Given the description of an element on the screen output the (x, y) to click on. 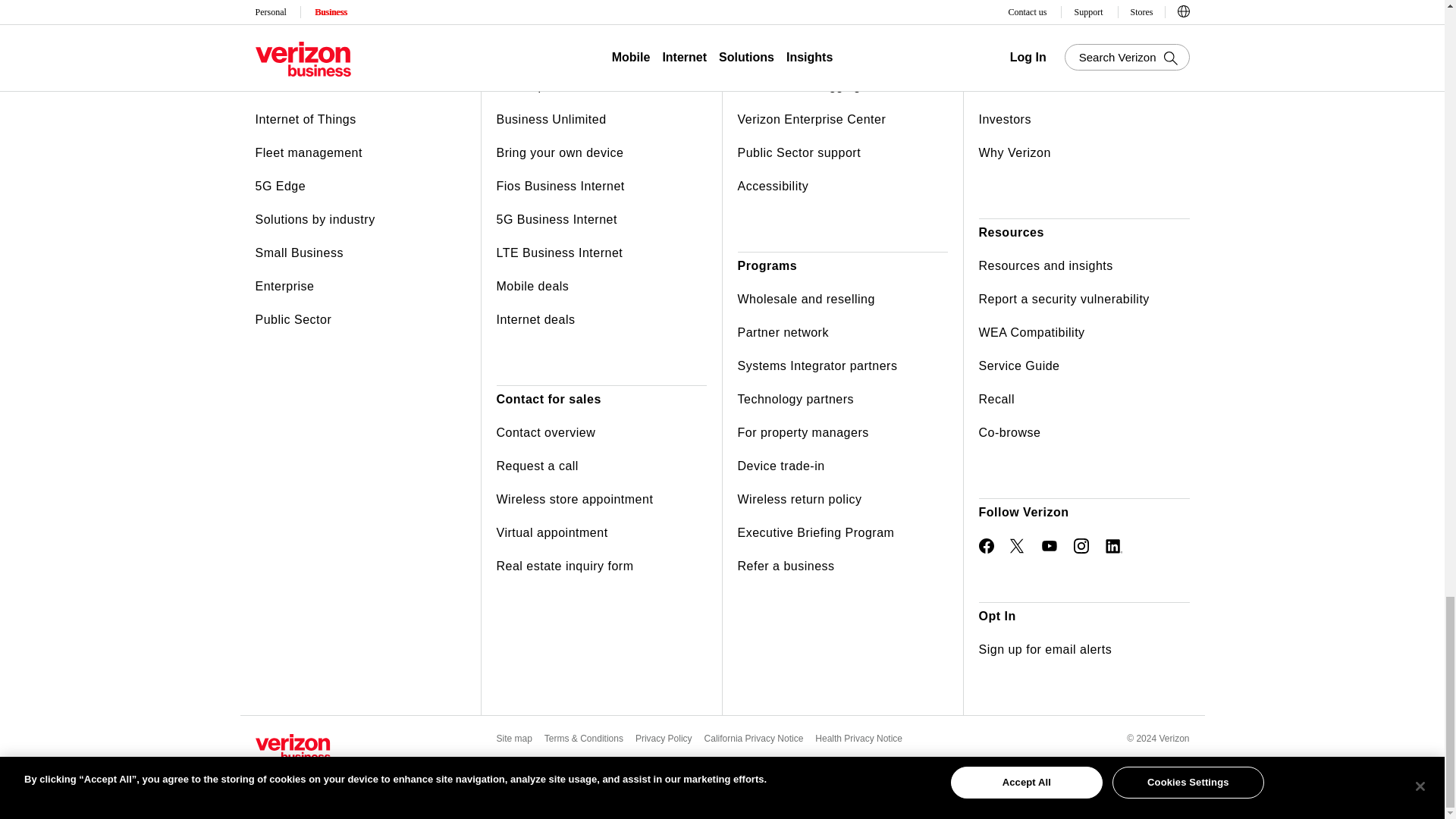
Opens New Window (1081, 545)
Opens New Window (1113, 545)
Opens New Window (985, 545)
Opens New Window (1049, 545)
Verizon Home Page (292, 747)
Opens New Window (1017, 545)
